Given the description of an element on the screen output the (x, y) to click on. 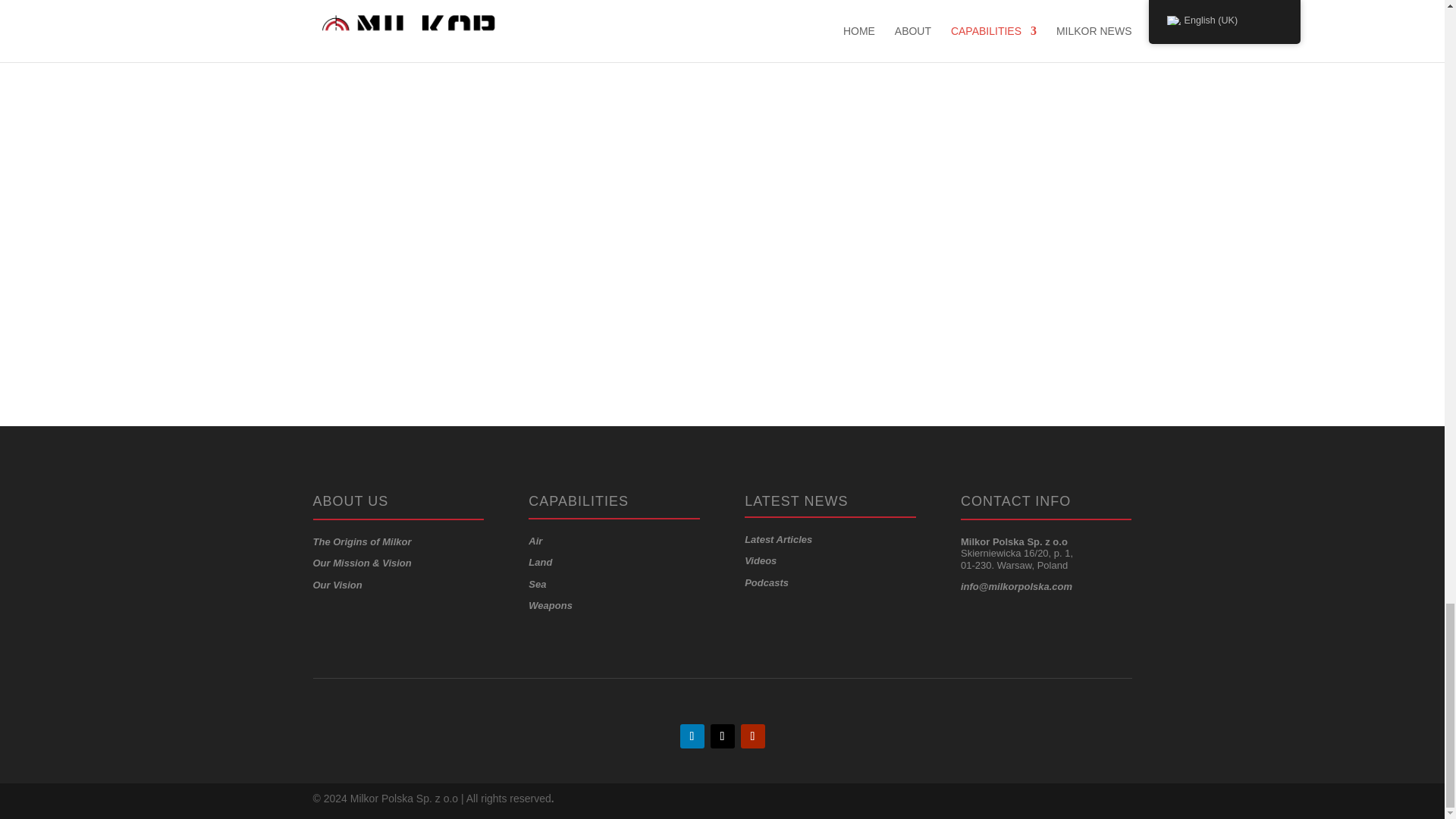
Videos (760, 560)
Follow on Youtube (751, 735)
Sea (537, 583)
Our Vision (337, 584)
Air (534, 541)
Follow on X (721, 735)
Weapons (550, 604)
Land (539, 562)
Podcasts (766, 582)
Latest Articles (778, 539)
The Origins of Milkor (361, 541)
Follow on LinkedIn (691, 735)
